Given the description of an element on the screen output the (x, y) to click on. 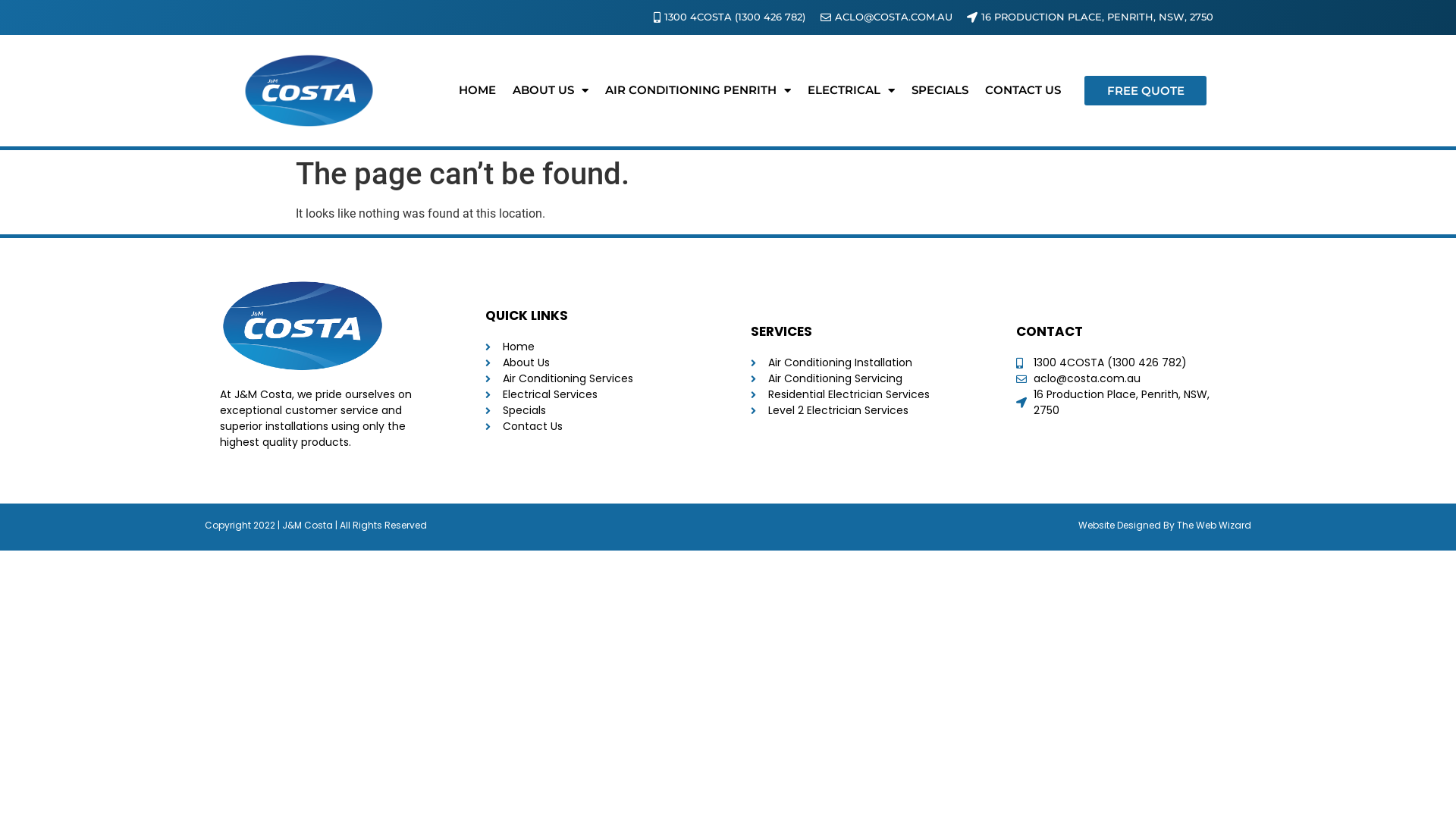
Home Element type: text (595, 346)
Specials Element type: text (595, 410)
16 Production Place, Penrith, NSW, 2750 Element type: text (1126, 402)
Air Conditioning Services Element type: text (595, 378)
HOME Element type: text (477, 90)
About Us Element type: text (595, 362)
ACLO@COSTA.COM.AU Element type: text (884, 17)
16 PRODUCTION PLACE, PENRITH, NSW, 2750 Element type: text (1089, 17)
CONTACT US Element type: text (1022, 90)
FREE QUOTE Element type: text (1145, 90)
1300 4COSTA (1300 426 782) Element type: text (1126, 362)
Electrical Services Element type: text (595, 394)
AIR CONDITIONING PENRITH Element type: text (697, 90)
Contact Us Element type: text (595, 426)
1300 4COSTA (1300 426 782) Element type: text (726, 17)
ELECTRICAL Element type: text (851, 90)
SPECIALS Element type: text (939, 90)
aclo@costa.com.au Element type: text (1126, 378)
ABOUT US Element type: text (550, 90)
